Given the description of an element on the screen output the (x, y) to click on. 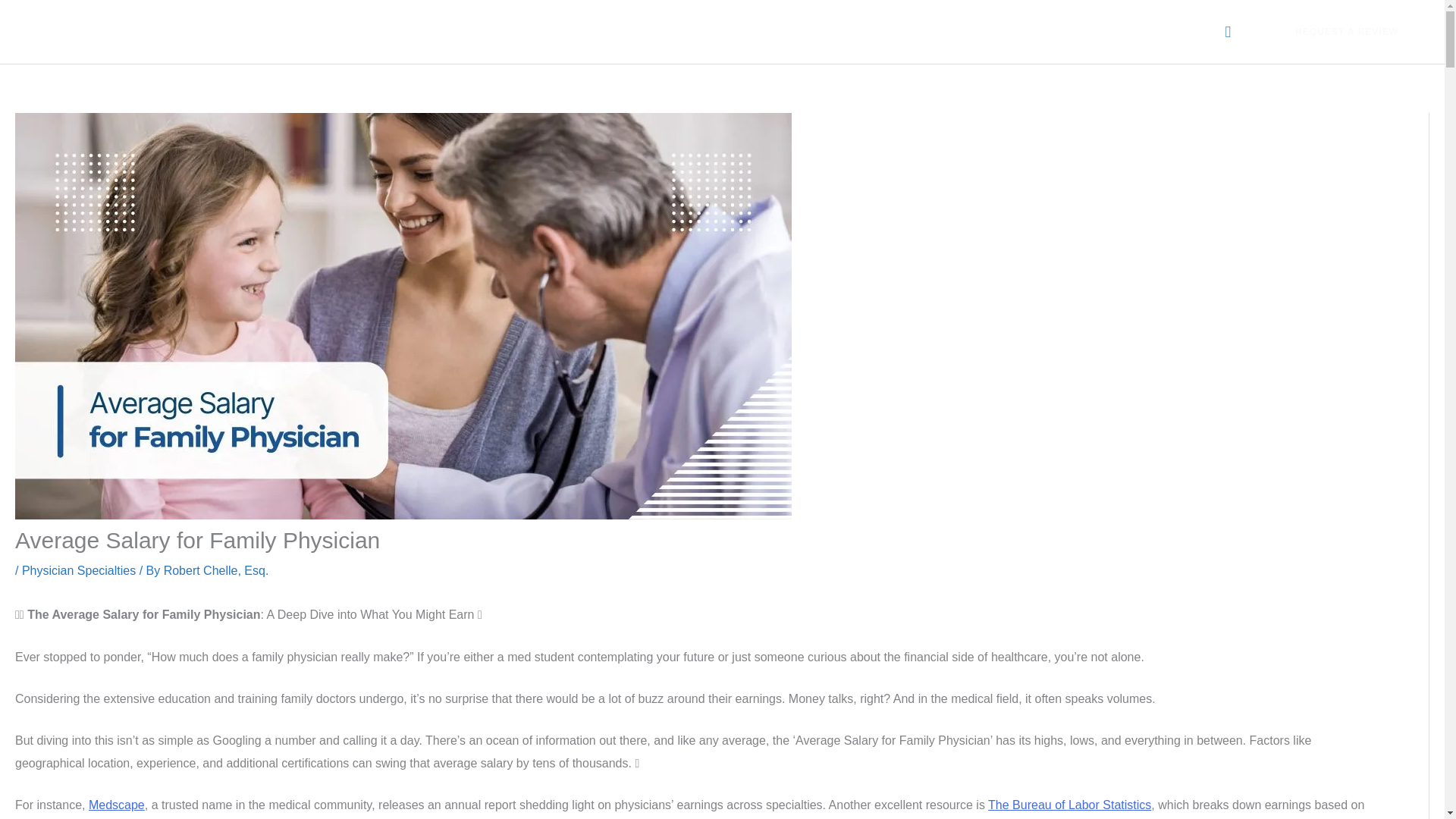
Contact (1173, 31)
Review (877, 31)
The Bureau of Labor Statistics (1069, 804)
About Us (791, 31)
Drafting (959, 31)
Medscape (116, 804)
Robert Chelle, Esq. (216, 570)
Physician Specialties (78, 570)
Blog (1103, 31)
Videos (1035, 31)
